Given the description of an element on the screen output the (x, y) to click on. 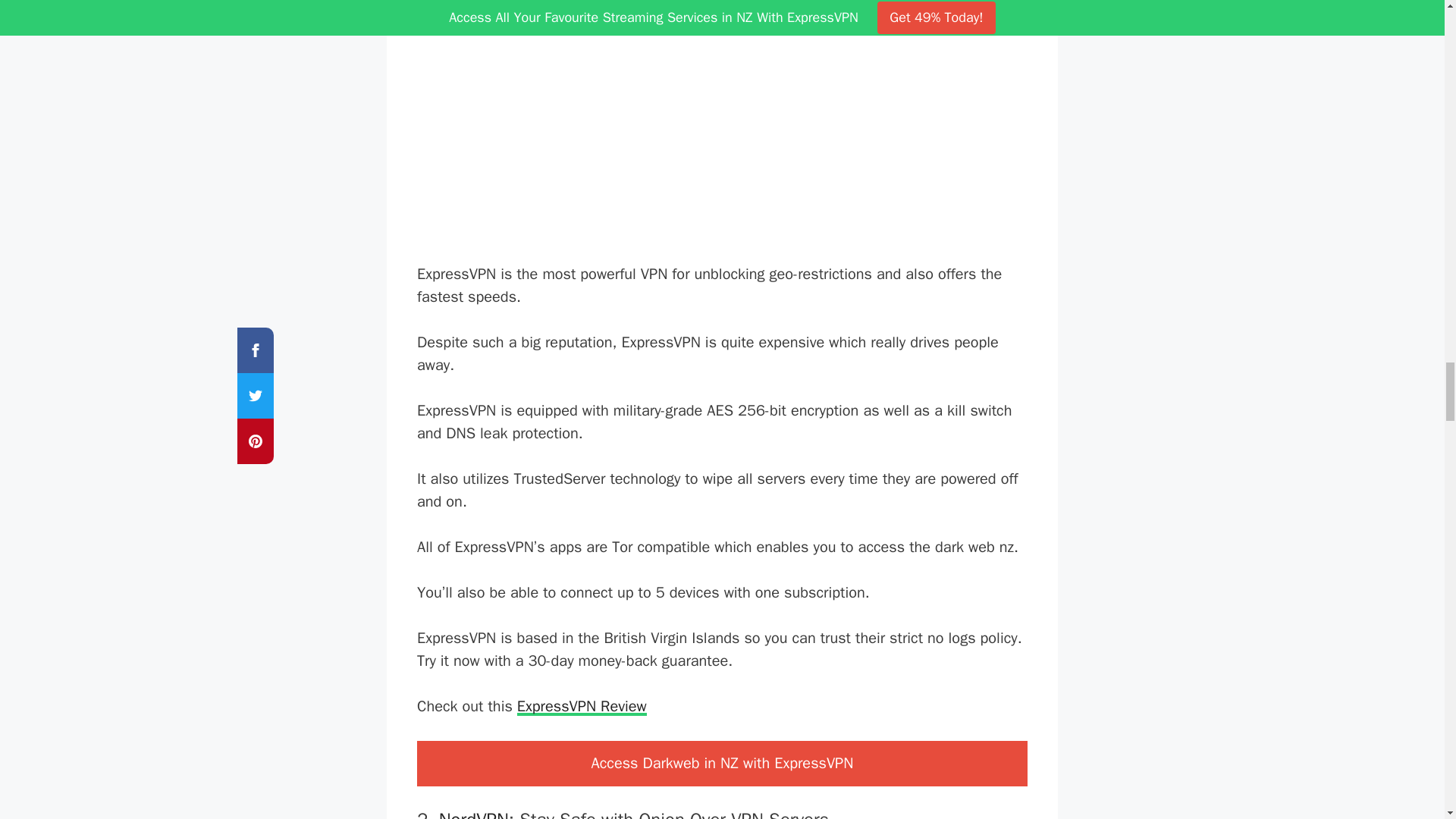
Access Darkweb in NZ with ExpressVPN (721, 763)
NordVPN (473, 813)
ExpressVPN Review (581, 705)
Nordvpn (473, 813)
